Given the description of an element on the screen output the (x, y) to click on. 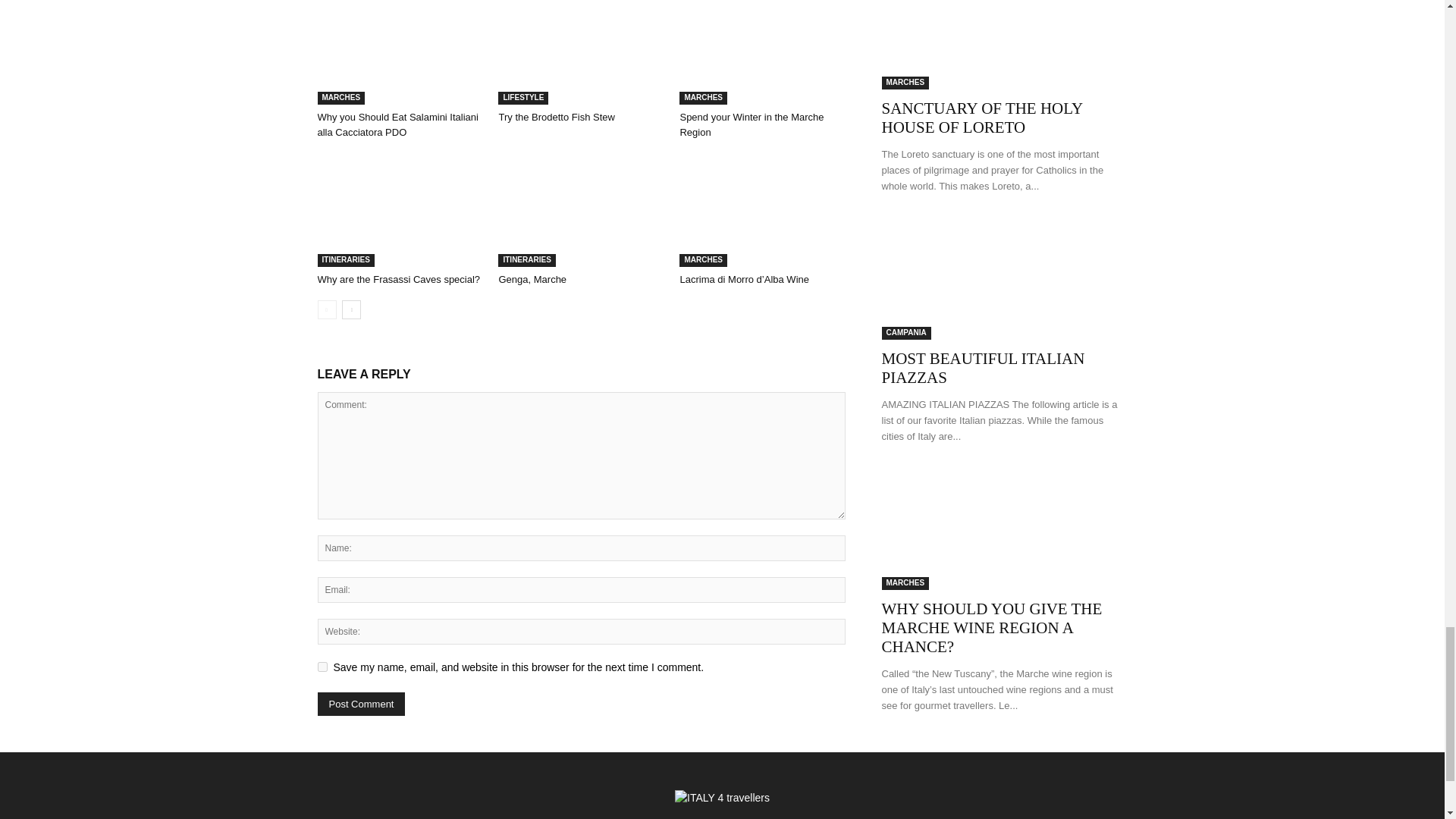
yes (321, 666)
Post Comment (360, 703)
